Given the description of an element on the screen output the (x, y) to click on. 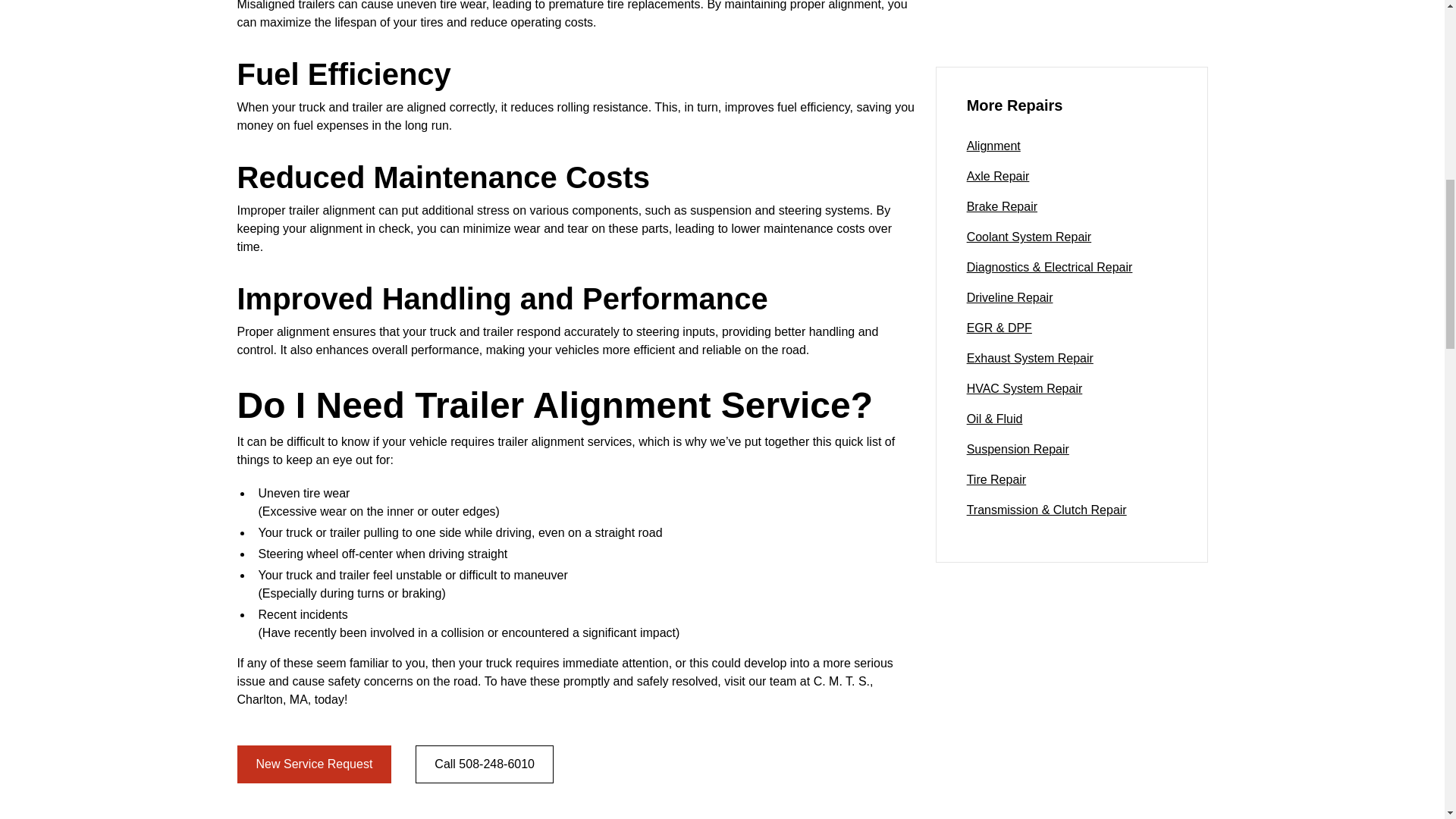
Call 508-248-6010 (483, 763)
New Service Request (313, 763)
